Given the description of an element on the screen output the (x, y) to click on. 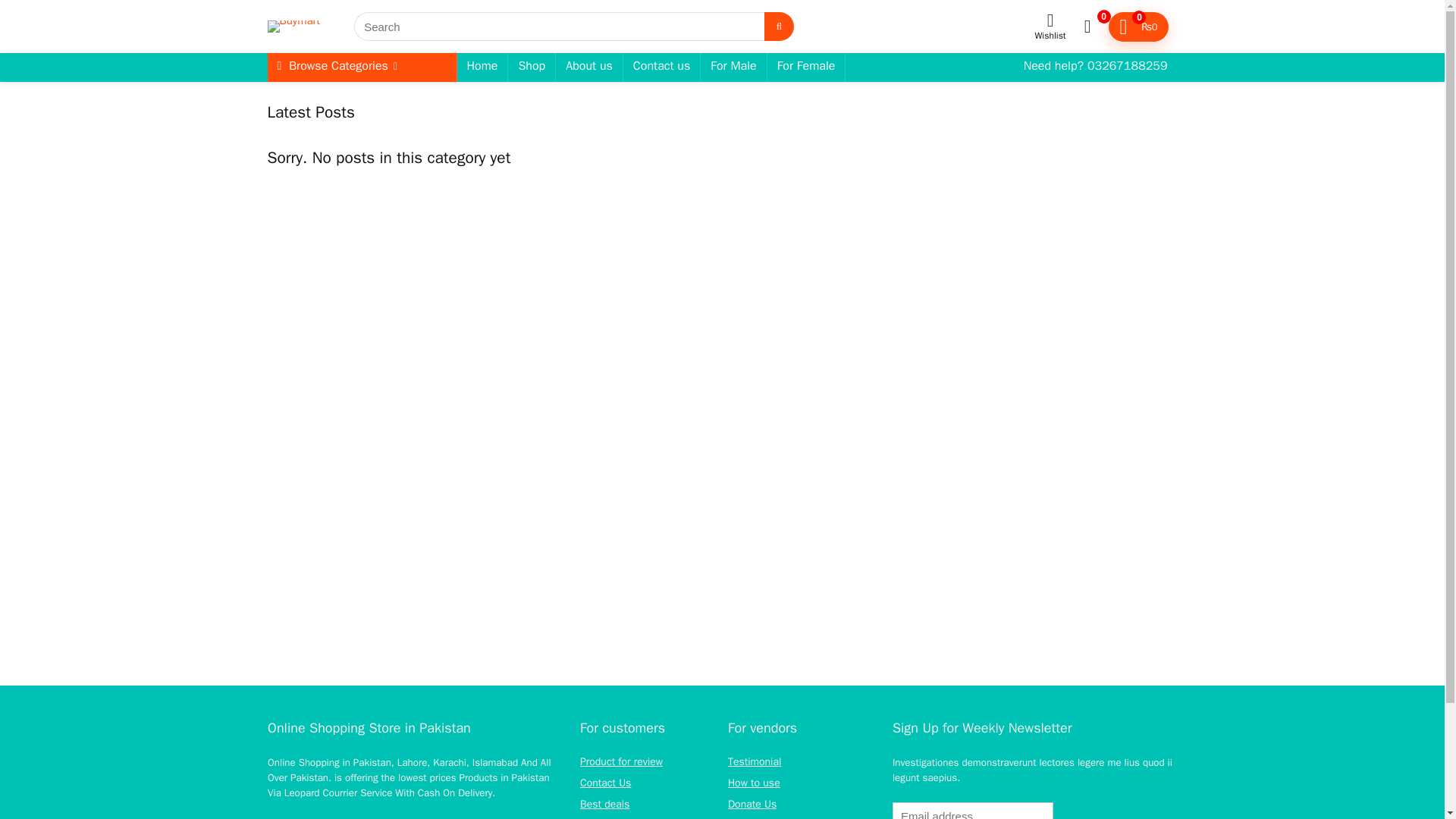
Donate Us (752, 803)
Contact us (661, 67)
For Male (732, 67)
Product for review (620, 761)
Contact Us (604, 782)
Testimonial (754, 761)
About us (589, 67)
Shop (531, 67)
Need help? 03267188259 (1095, 67)
How to use (754, 782)
